Given the description of an element on the screen output the (x, y) to click on. 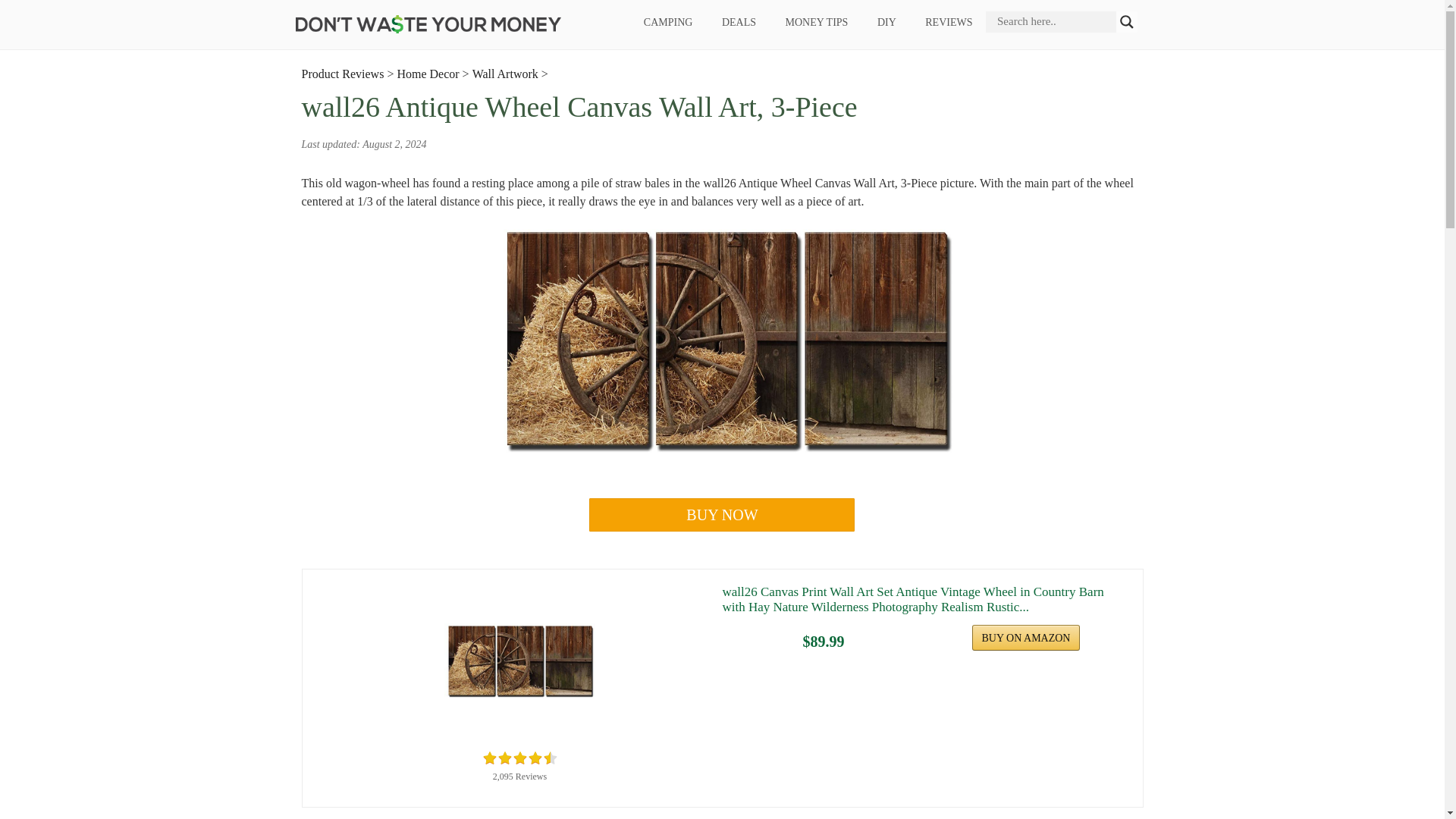
REVIEWS (948, 22)
BUY ON AMAZON (1026, 637)
DEALS (737, 22)
Wall Artwork (504, 73)
Product Reviews (342, 73)
Home Decor (427, 73)
CAMPING (668, 22)
Reviews on Amazon (519, 758)
